Given the description of an element on the screen output the (x, y) to click on. 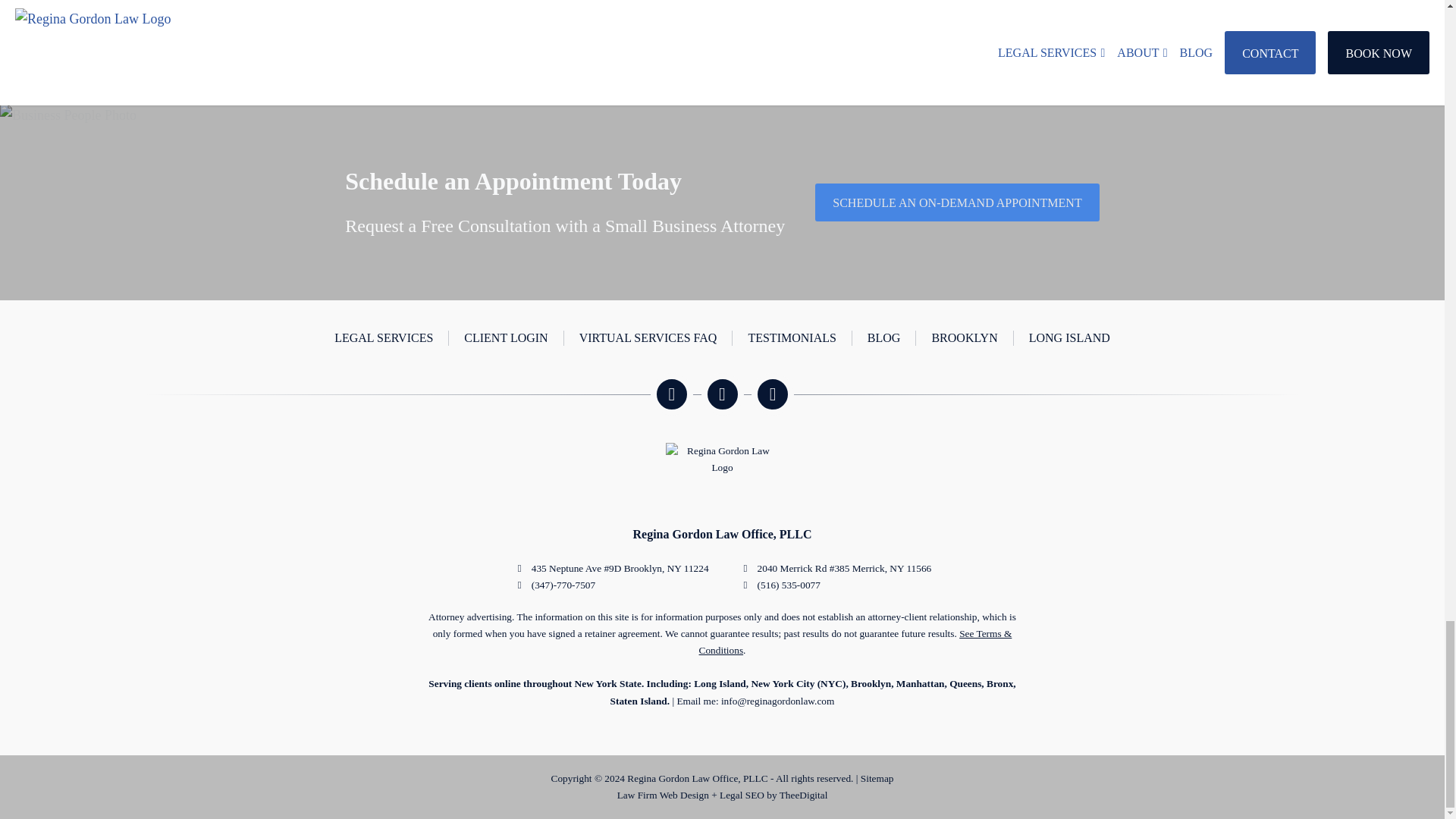
Best SEO Agency (803, 794)
Law Firm Web Design Services (663, 794)
Legal SEO (741, 794)
SCHEDULE AN ON-DEMAND APPOINTMENT (957, 200)
